Given the description of an element on the screen output the (x, y) to click on. 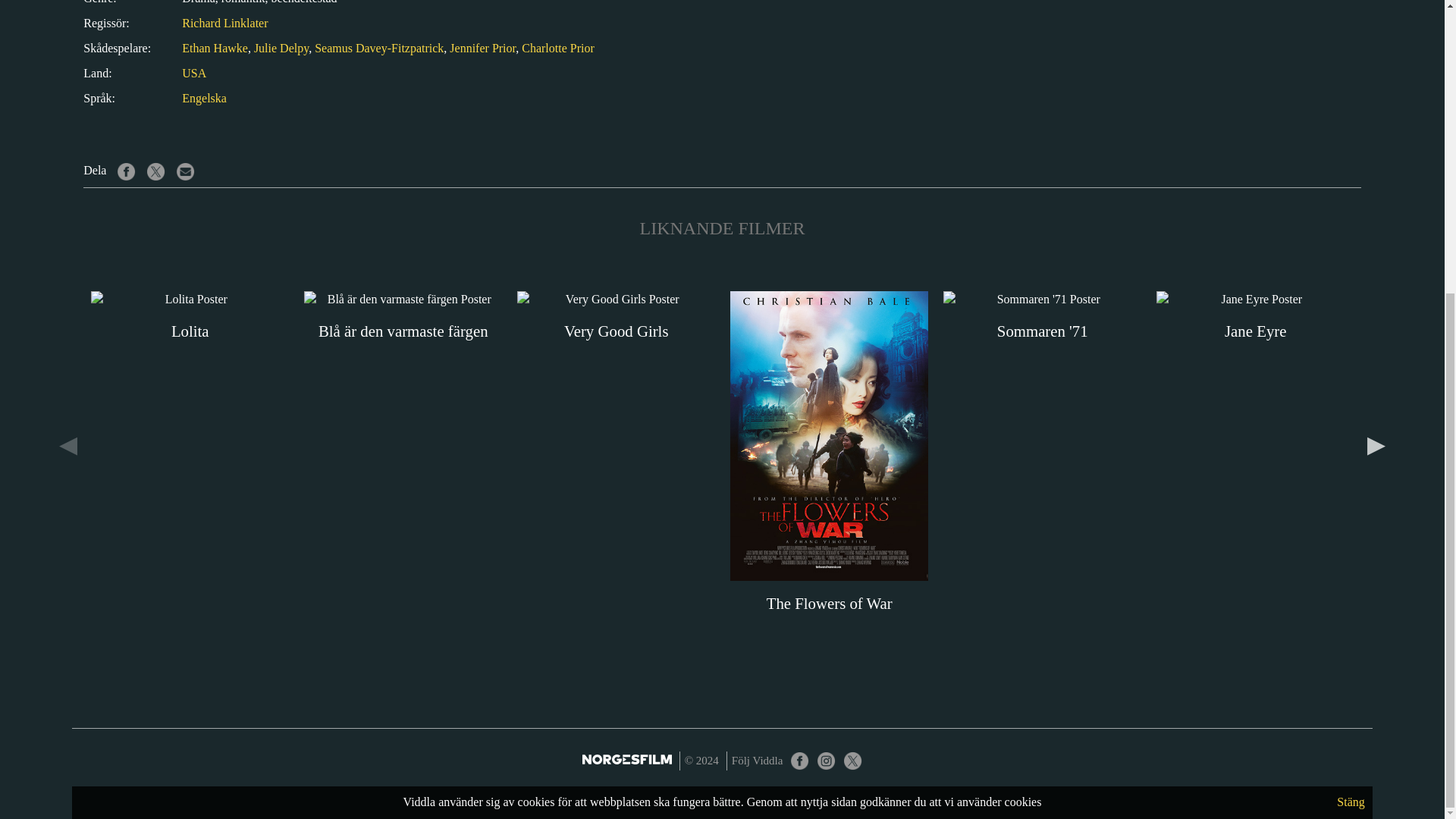
Sommaren '71 (1042, 317)
Jennifer Prior (482, 47)
Engelska (204, 97)
Jane Eyre (1254, 317)
Lolita (189, 317)
Julie Delpy (280, 47)
Richard Linklater (224, 22)
Charlotte Prior (557, 47)
Ethan Hawke (214, 47)
Very Good Girls (615, 317)
